Given the description of an element on the screen output the (x, y) to click on. 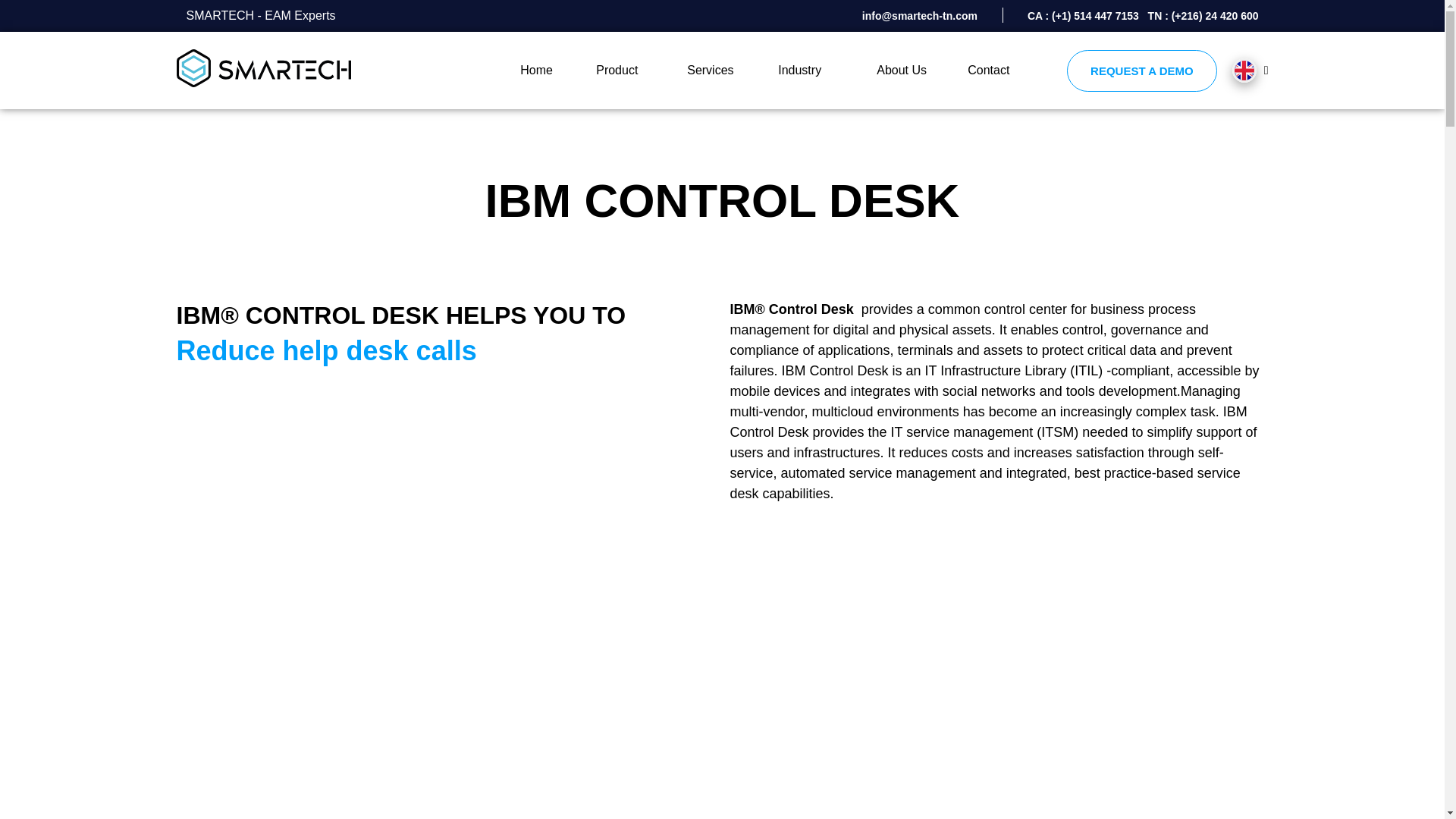
About Us (906, 69)
Industry (810, 69)
SMARTECH - EAM Experts (255, 15)
Services (716, 69)
Contact (989, 69)
Product (625, 69)
Home (541, 69)
